Given the description of an element on the screen output the (x, y) to click on. 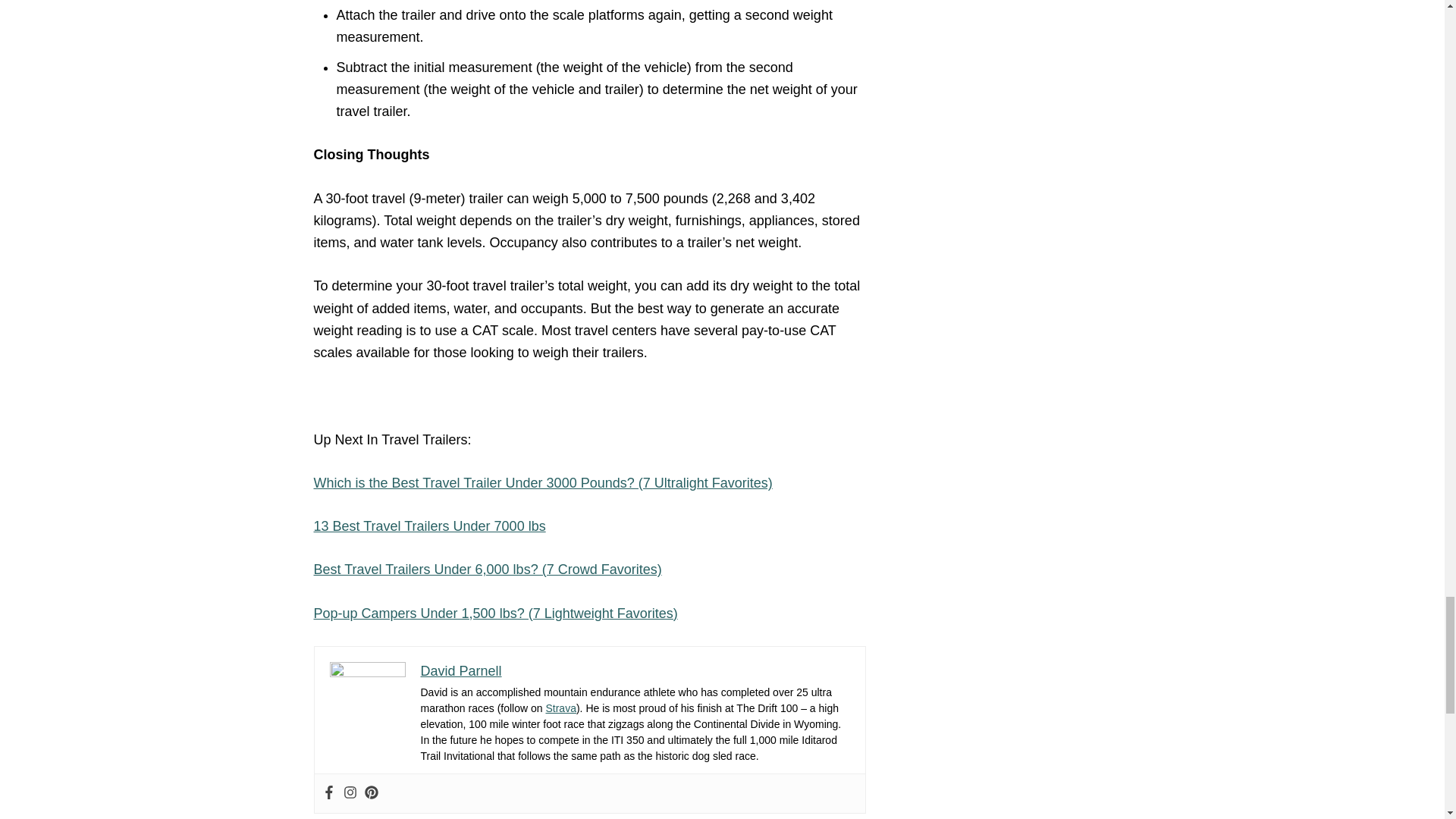
Strava (559, 707)
13 Best Travel Trailers Under 7000 lbs (430, 525)
David Parnell (460, 670)
